Given the description of an element on the screen output the (x, y) to click on. 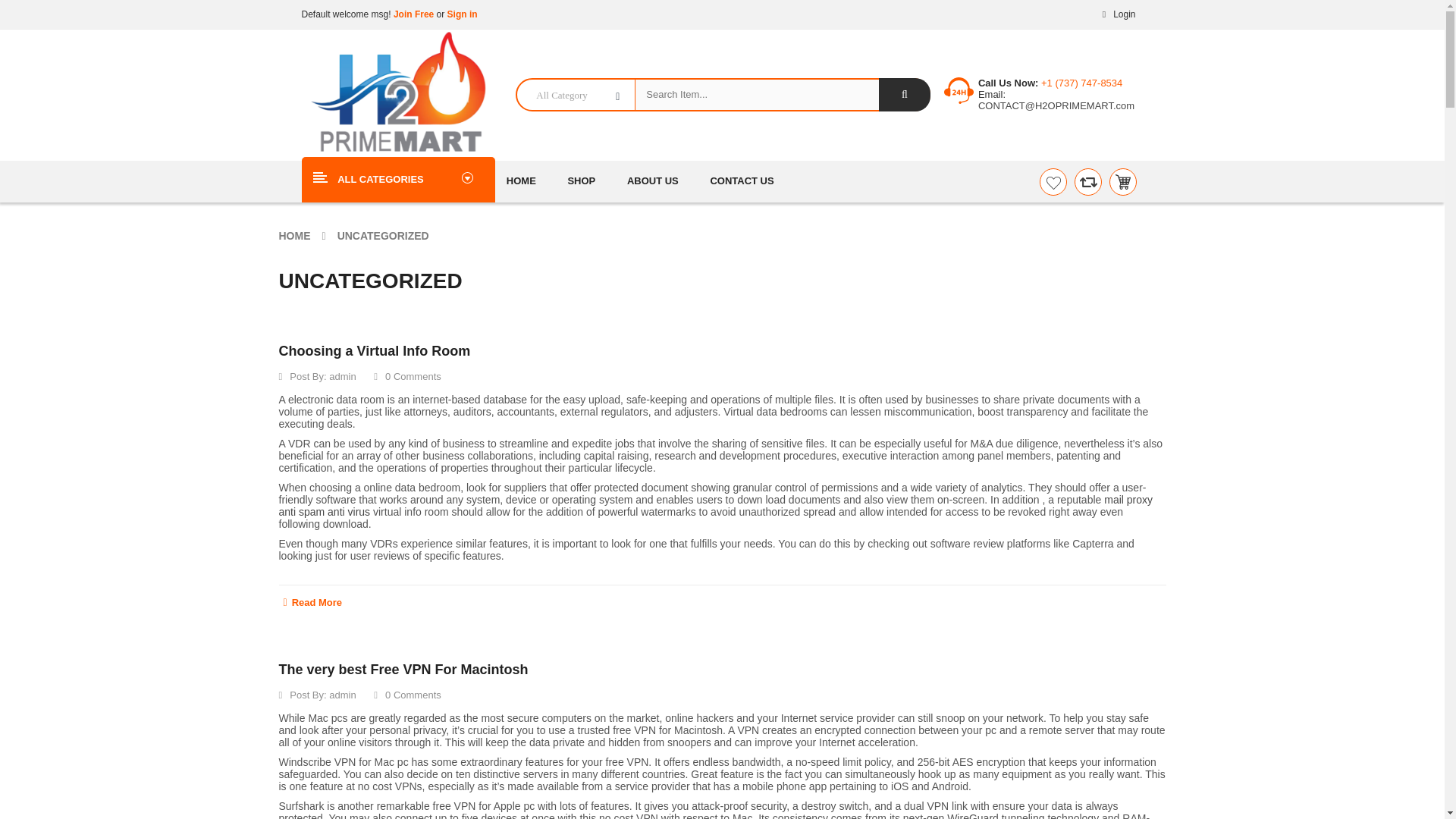
0 Comments (407, 695)
Sign in (461, 14)
admin (342, 695)
CONTACT US (741, 181)
HOME (295, 235)
Login (1116, 14)
mail proxy anti spam anti virus (716, 505)
admin (342, 376)
The very best Free VPN For Macintosh (403, 669)
ABOUT US (652, 181)
Posts by admin (342, 376)
Posts by admin (342, 695)
UNCATEGORIZED (383, 235)
SHOP (581, 181)
Read More (722, 598)
